Given the description of an element on the screen output the (x, y) to click on. 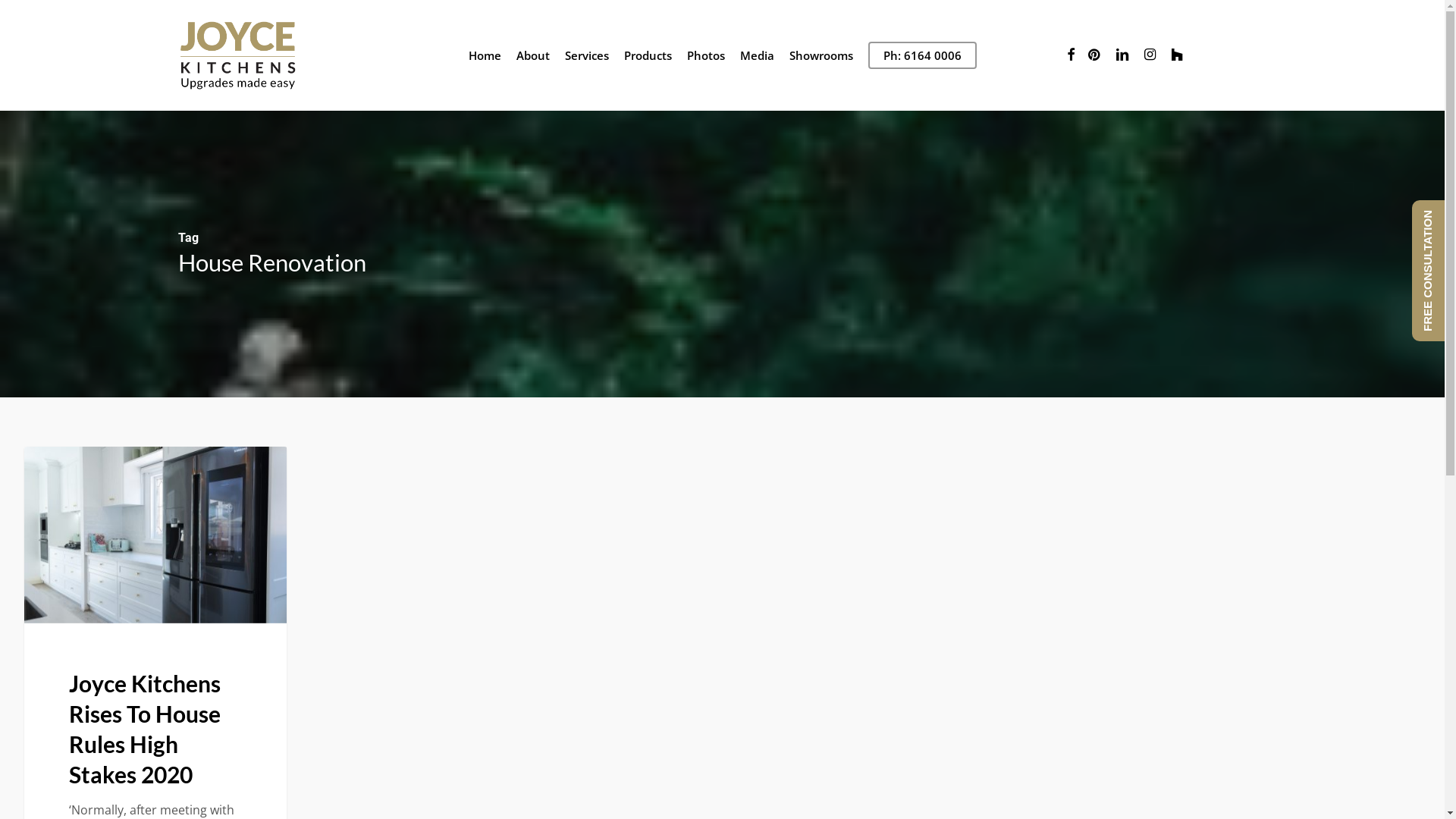
About Element type: text (532, 55)
Facebook Element type: text (1070, 55)
Instagram Element type: text (1149, 55)
Media Element type: text (757, 55)
Showrooms Element type: text (820, 55)
Photos Element type: text (705, 55)
Services Element type: text (586, 55)
Products Element type: text (647, 55)
Houzz Element type: text (1176, 55)
Joyce Kitchens Rises To House Rules High Stakes 2020 Element type: text (144, 728)
Home Element type: text (484, 55)
Ph: 6164 0006 Element type: text (921, 55)
Pinterest Element type: text (1094, 55)
Linkedin Element type: text (1121, 55)
